Given the description of an element on the screen output the (x, y) to click on. 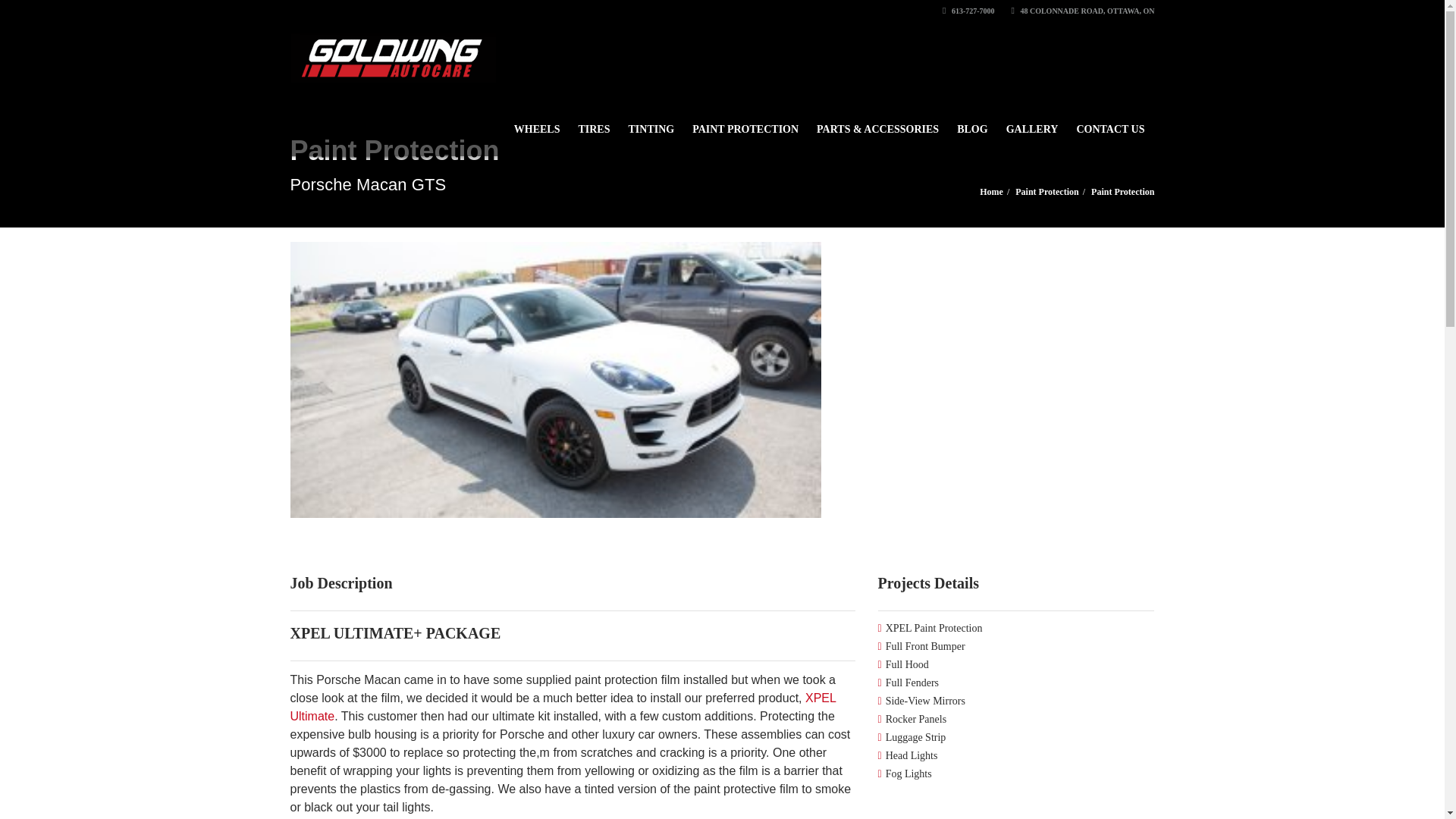
48 COLONNADE ROAD, OTTAWA, ON (1082, 10)
GALLERY (1032, 122)
WHEELS (537, 122)
PAINT PROTECTION (745, 122)
613-727-7000 (968, 10)
TINTING (650, 122)
